Given the description of an element on the screen output the (x, y) to click on. 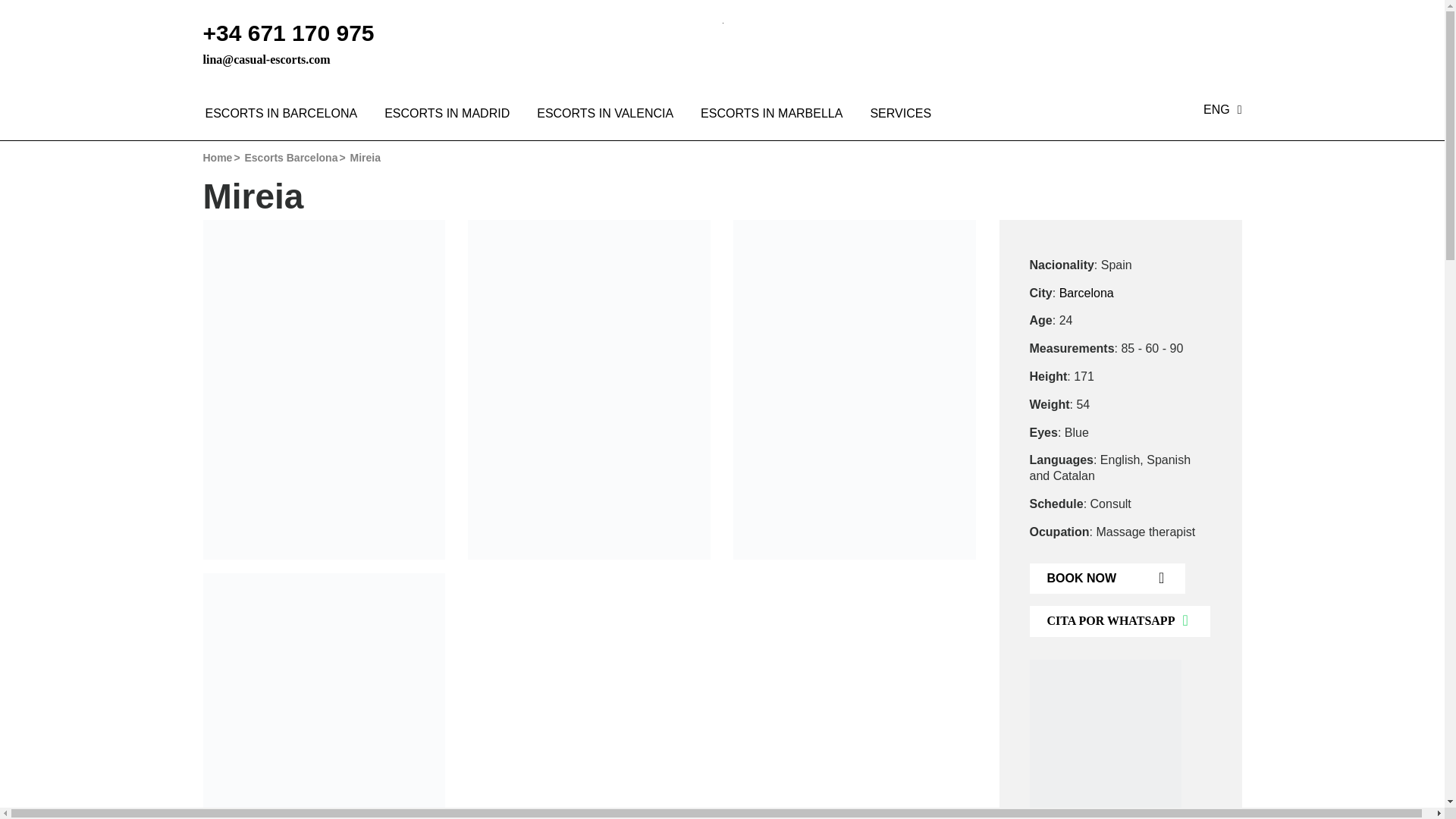
SERVICES (893, 113)
Escorts Barcelona (290, 157)
ESCORTS IN MARBELLA (771, 113)
ESCORTS IN BARCELONA (280, 113)
Home (217, 157)
Barcelona (1086, 292)
ESCORTS IN MADRID (446, 113)
ESCORTS IN VALENCIA (604, 113)
